Given the description of an element on the screen output the (x, y) to click on. 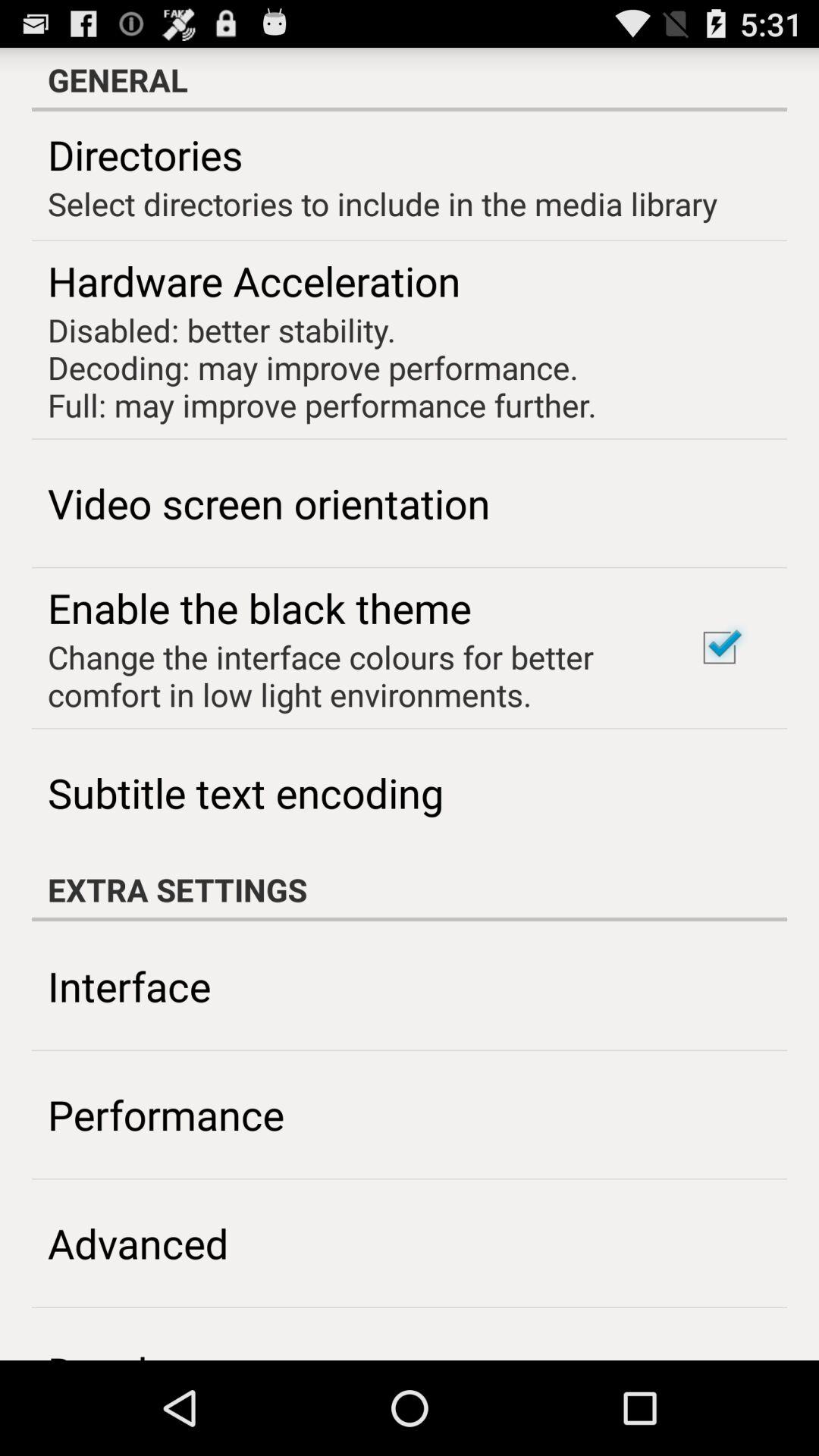
flip until advanced app (137, 1242)
